Given the description of an element on the screen output the (x, y) to click on. 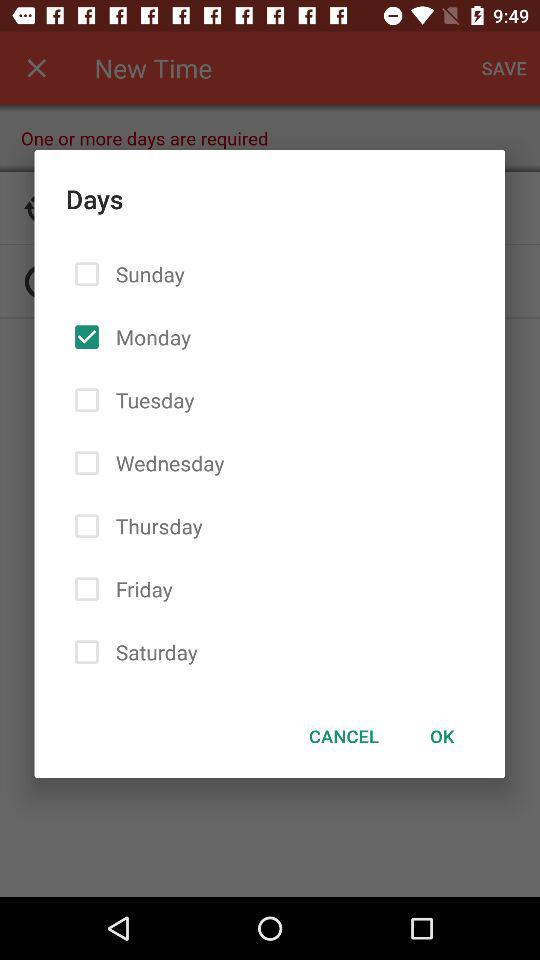
turn off monday (149, 336)
